Given the description of an element on the screen output the (x, y) to click on. 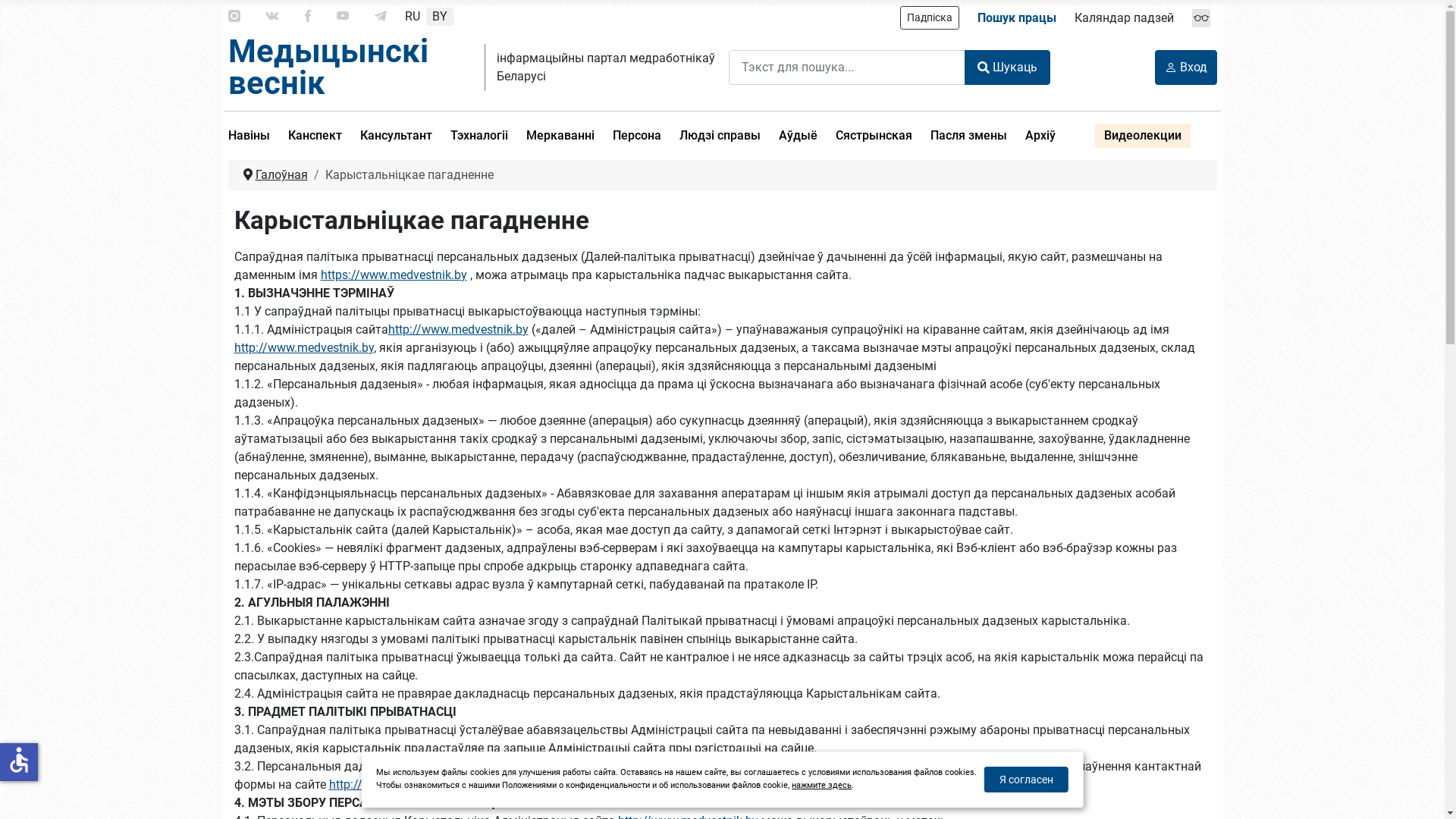
http://www.medvestnik.by Element type: text (458, 329)
http://www.medvestnik.by Element type: text (303, 347)
BY Element type: text (439, 16)
RU Element type: text (412, 16)
https://www.medvestnik.by Element type: text (393, 274)
http://www.medvestnik. Element type: text (392, 784)
